Given the description of an element on the screen output the (x, y) to click on. 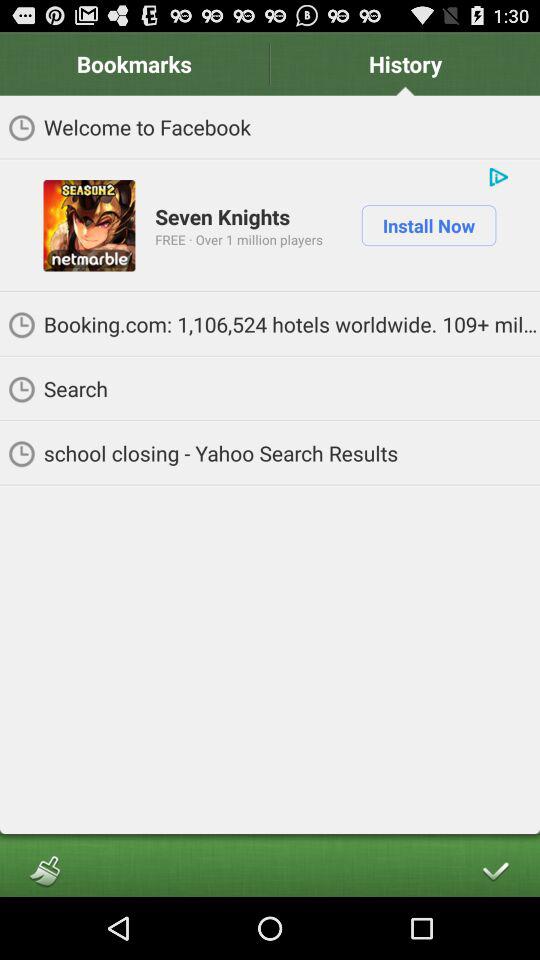
turn off the icon below welcome to facebook (222, 216)
